Given the description of an element on the screen output the (x, y) to click on. 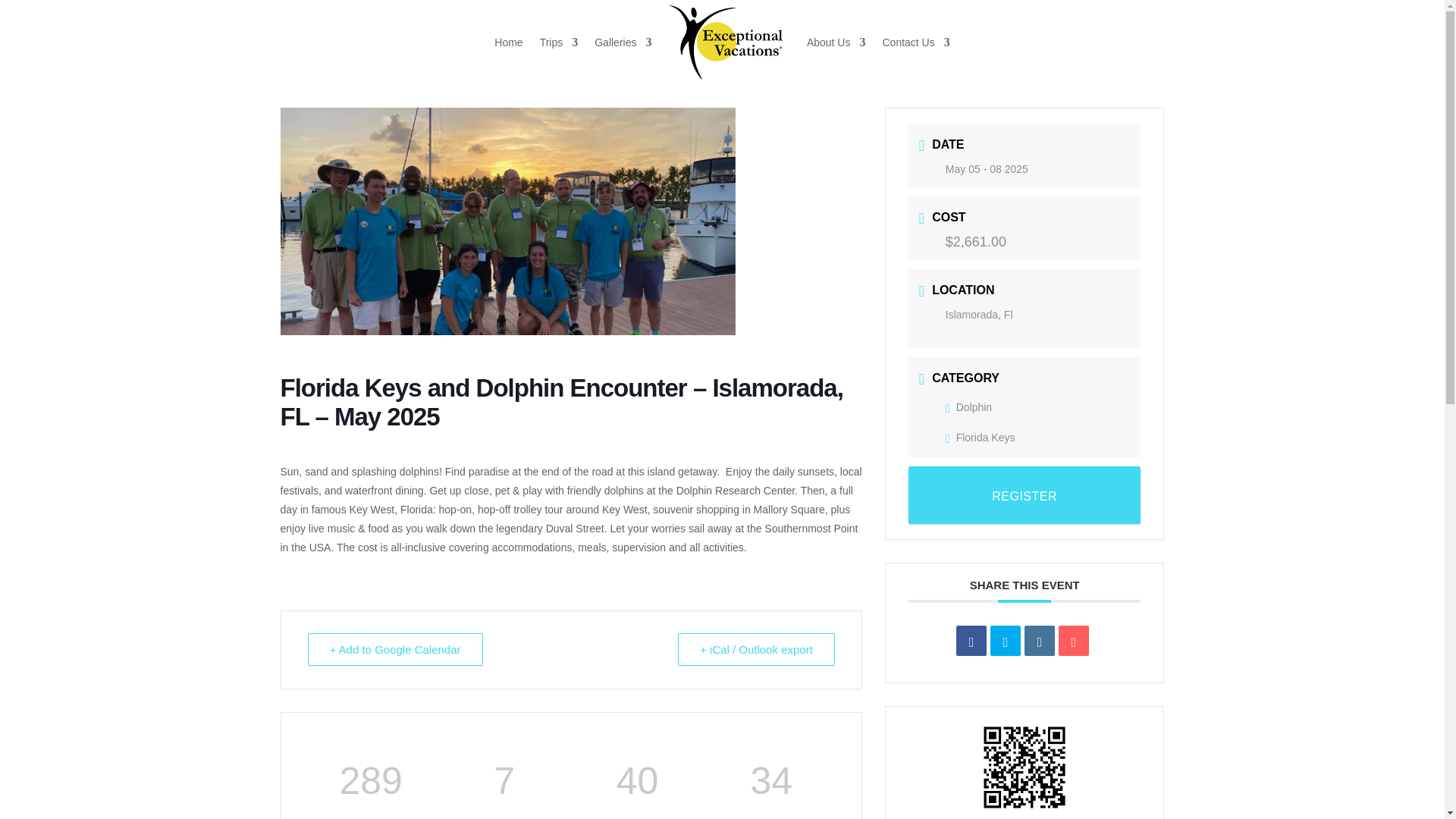
Dolphin (967, 407)
Florida Keys (979, 437)
REGISTER (1024, 495)
Contact Us (915, 42)
Tweet (1005, 640)
Share on Facebook (971, 640)
Email (1073, 640)
Linkedin (1039, 640)
